Given the description of an element on the screen output the (x, y) to click on. 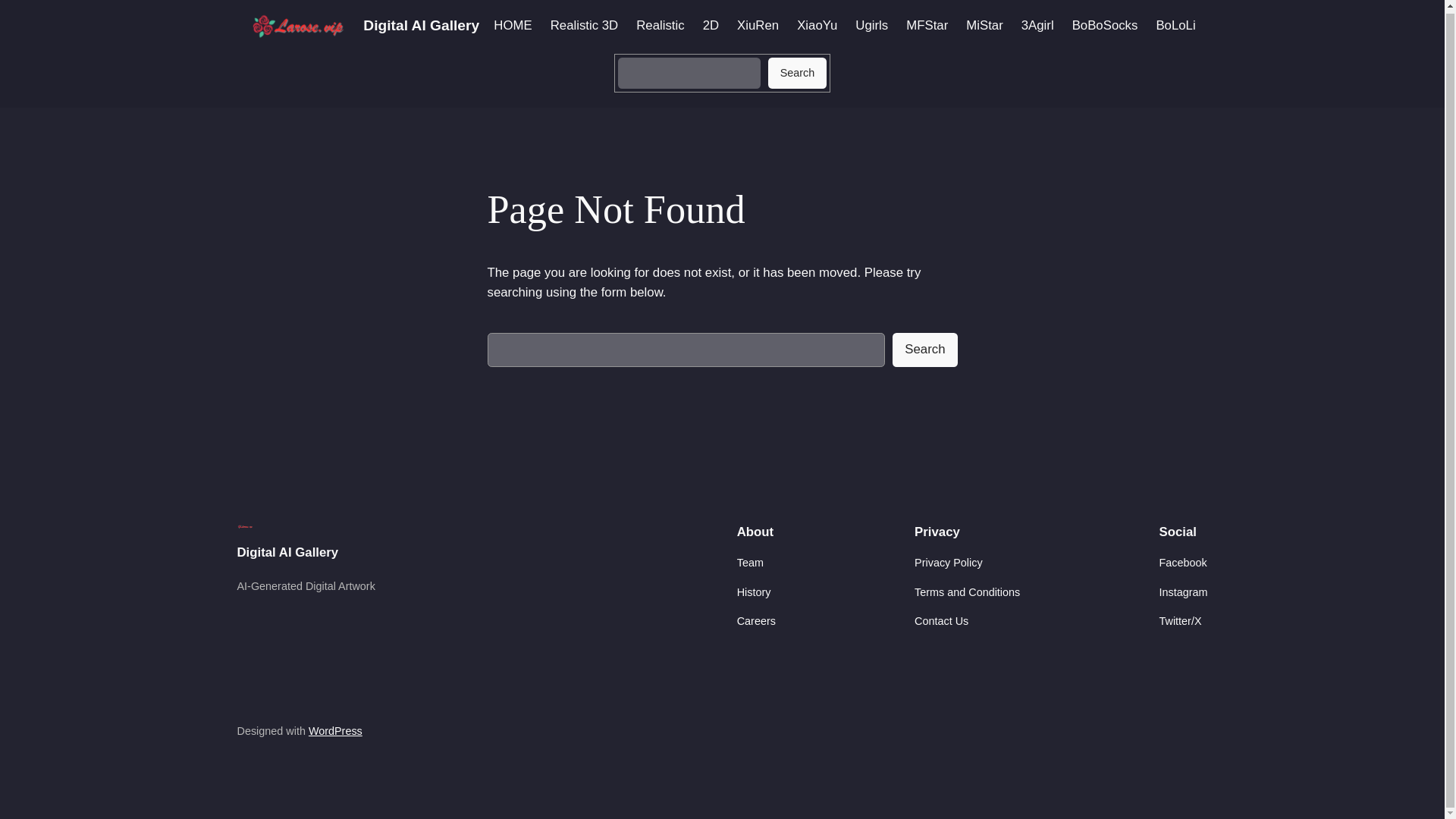
BoLoLi (1175, 25)
Careers (756, 620)
Instagram (1182, 591)
XiaoYu (816, 25)
Ugirls (872, 25)
Digital AI Gallery (420, 25)
Team (749, 562)
Search (924, 349)
Privacy Policy (948, 562)
XiuRen (757, 25)
Realistic 3D (584, 25)
Digital AI Gallery (286, 552)
Terms and Conditions (967, 591)
Realistic (660, 25)
History (753, 591)
